Given the description of an element on the screen output the (x, y) to click on. 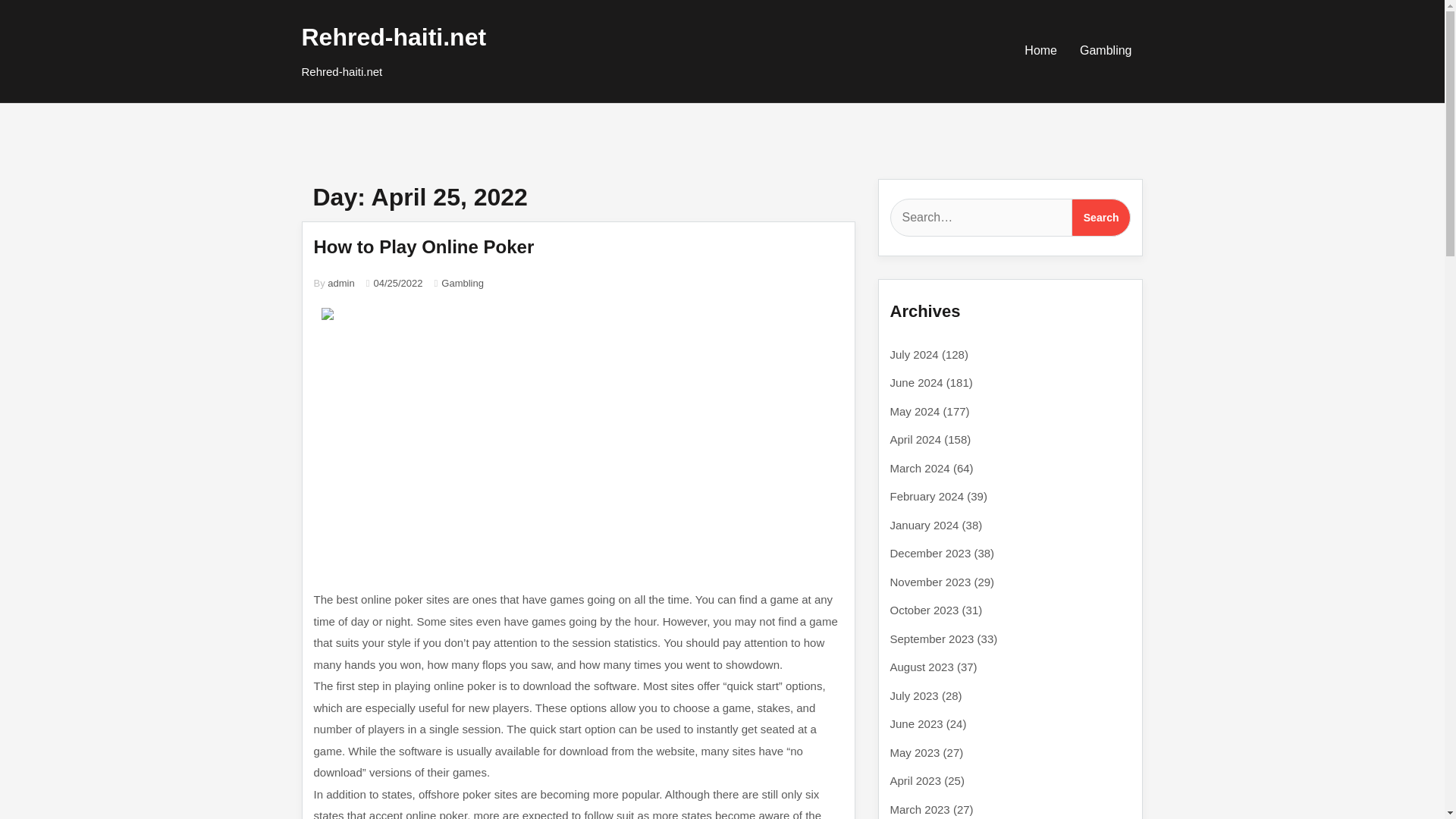
Gambling (462, 283)
May 2023 (914, 752)
February 2024 (926, 495)
April 2023 (915, 780)
October 2023 (924, 609)
August 2023 (921, 666)
admin (340, 283)
Rehred-haiti.net (393, 36)
January 2024 (924, 524)
Home (1040, 50)
July 2023 (914, 694)
Search (1101, 217)
March 2023 (919, 808)
November 2023 (930, 581)
How to Play Online Poker (424, 246)
